Given the description of an element on the screen output the (x, y) to click on. 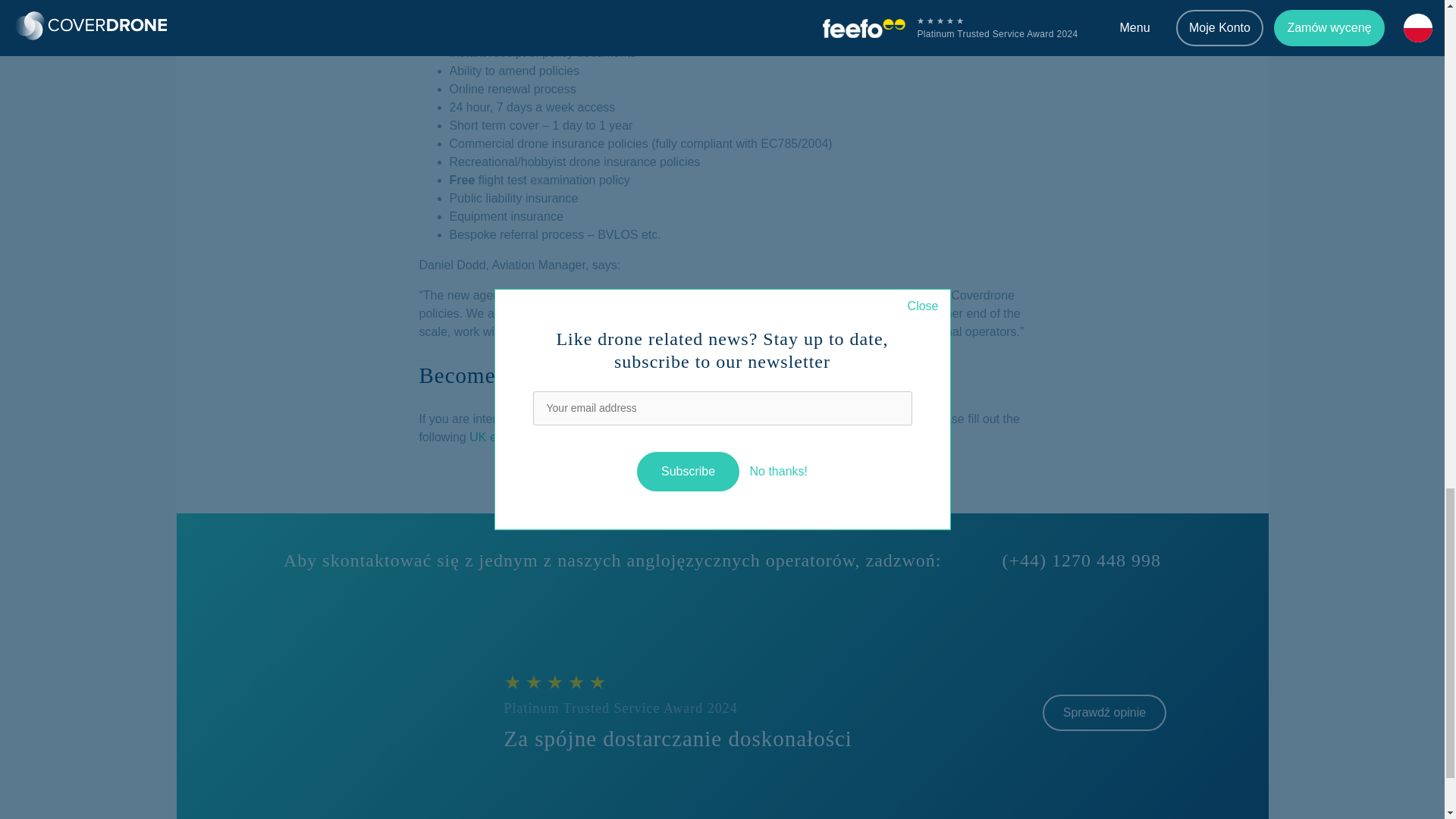
EU enquiry form (618, 437)
UK enquiry form (512, 437)
